Given the description of an element on the screen output the (x, y) to click on. 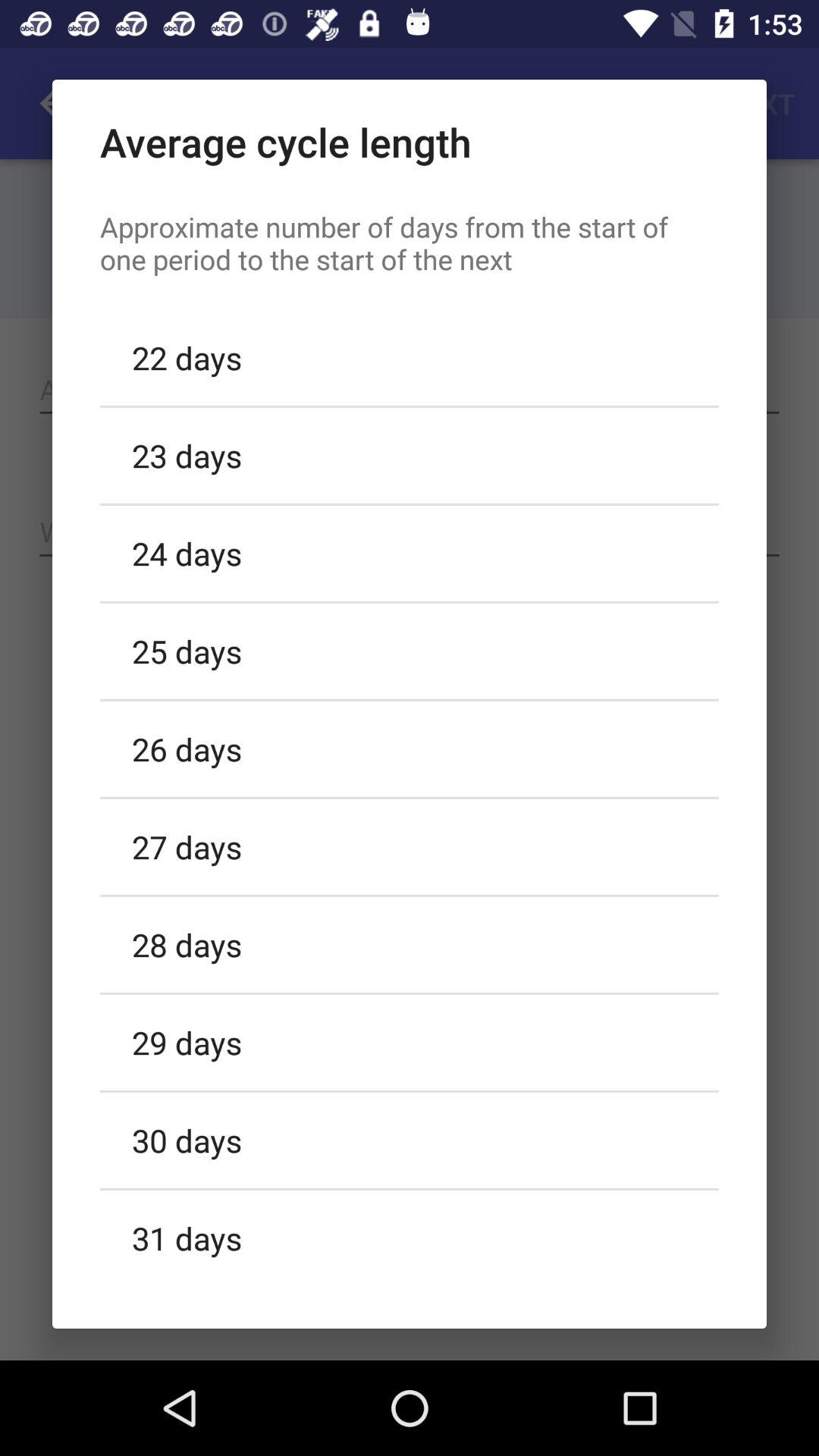
launch 23 days item (409, 455)
